Given the description of an element on the screen output the (x, y) to click on. 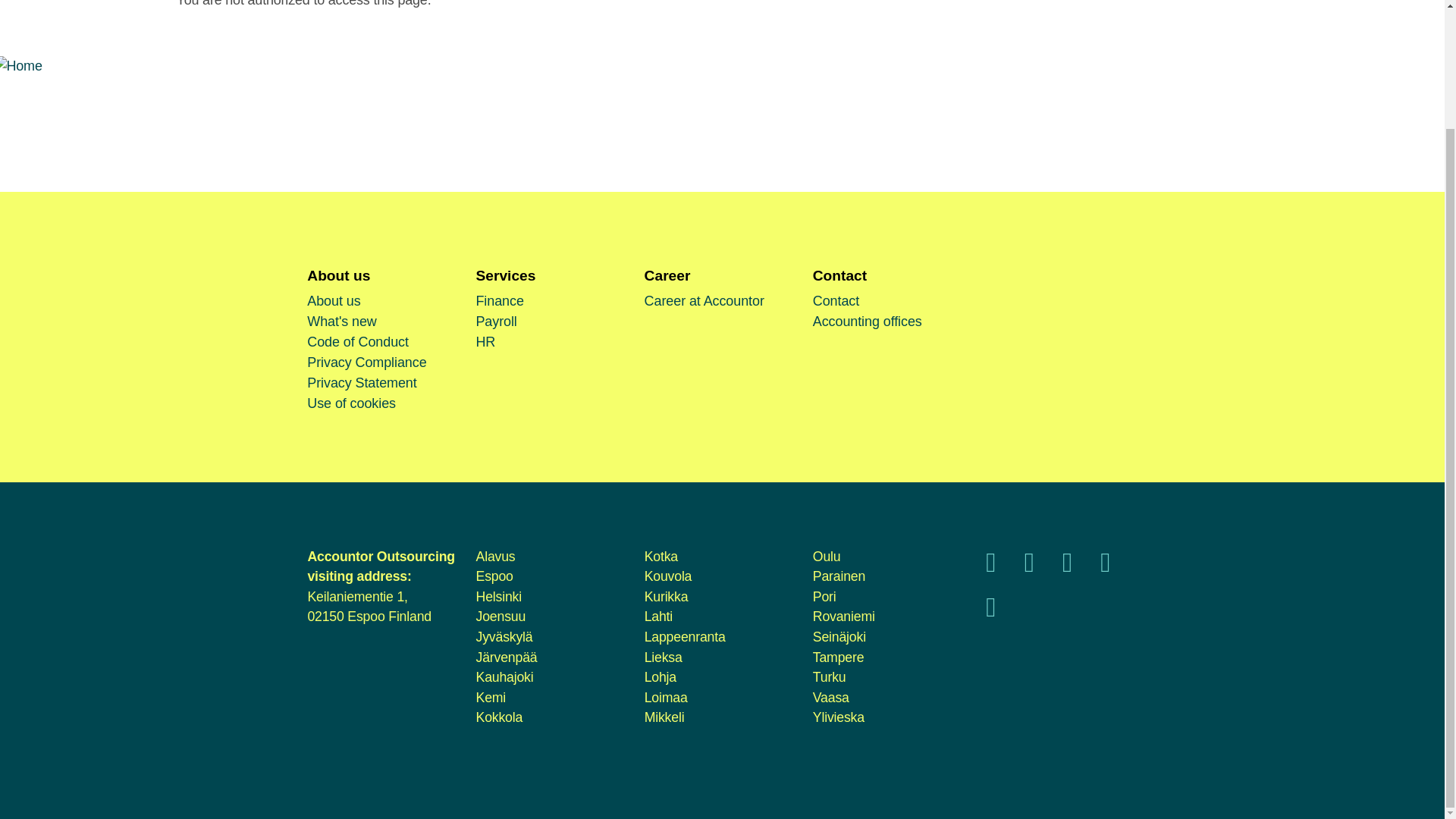
Twitter (1029, 566)
Youtube (1066, 566)
Instagram (1104, 566)
Facebook (990, 566)
LinkedIn (990, 611)
